Given the description of an element on the screen output the (x, y) to click on. 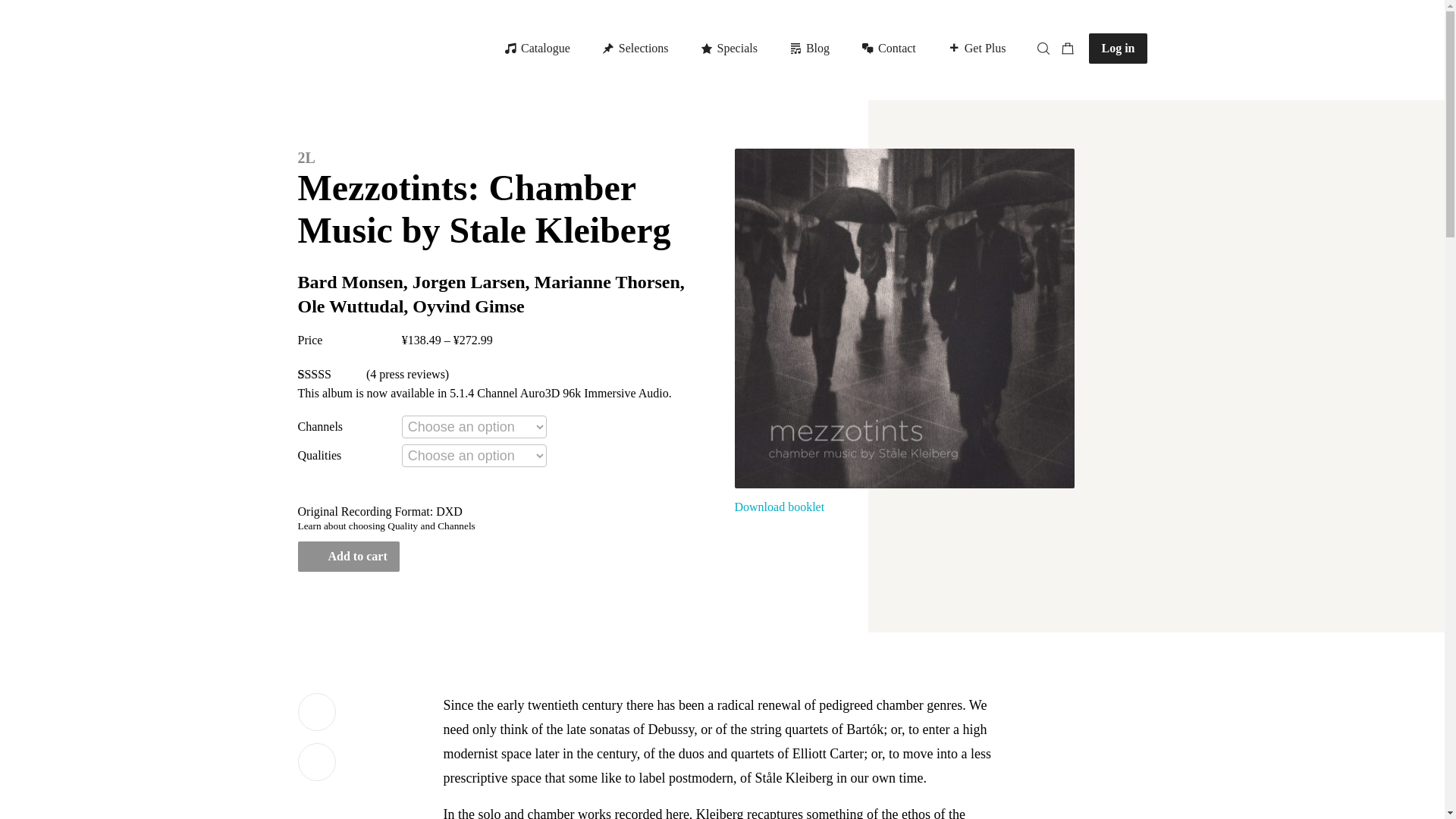
NativeDSD (363, 48)
Selections (637, 48)
NativeDSD (779, 48)
Catalogue (779, 48)
